Given the description of an element on the screen output the (x, y) to click on. 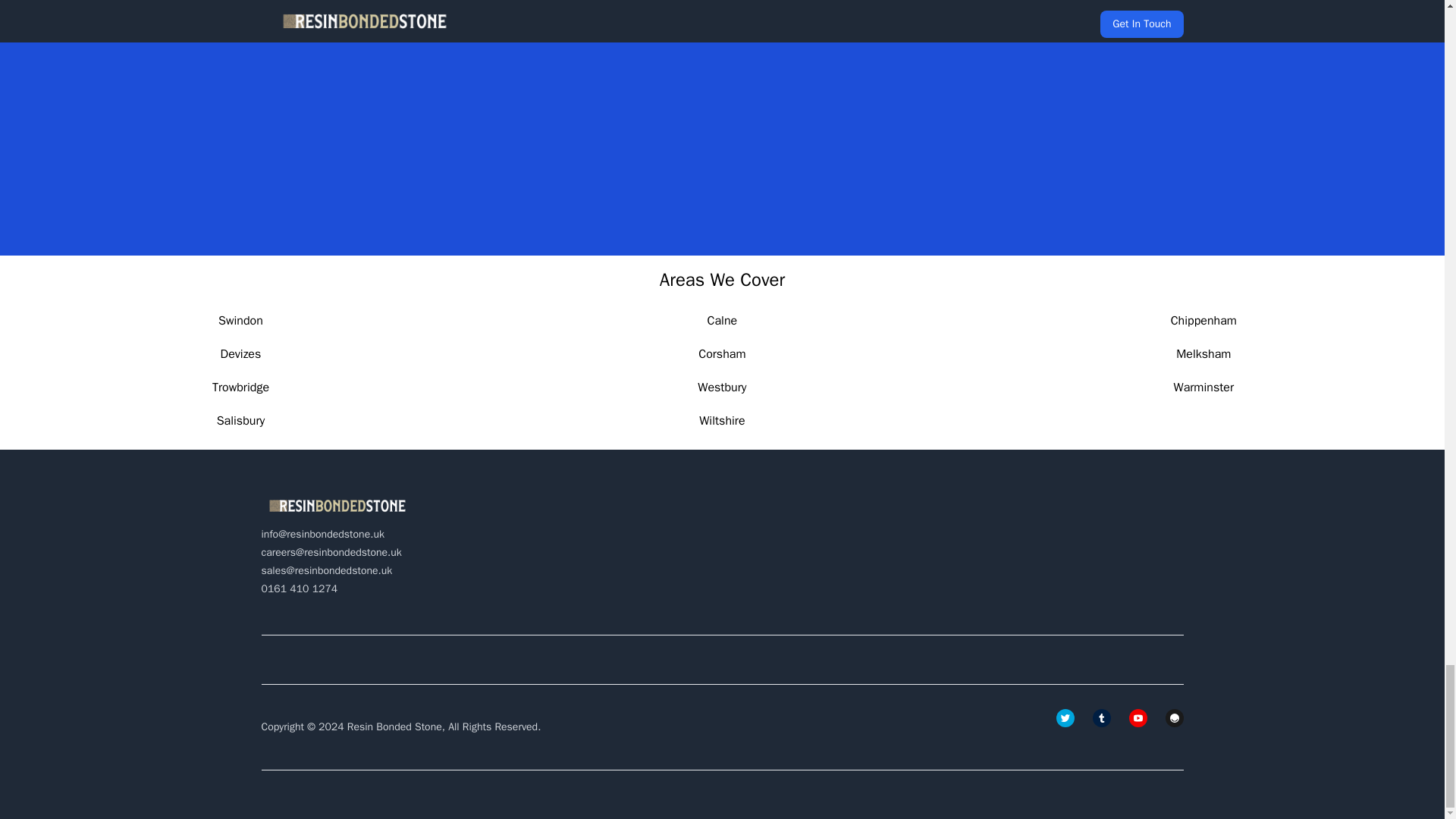
Westbury (721, 387)
Corsham (721, 353)
Swindon (240, 320)
Calne (722, 320)
Trowbridge (240, 387)
Wiltshire (721, 420)
Devizes (241, 353)
Melksham (1203, 353)
Warminster (1203, 387)
Salisbury (240, 420)
Chippenham (1203, 320)
